Given the description of an element on the screen output the (x, y) to click on. 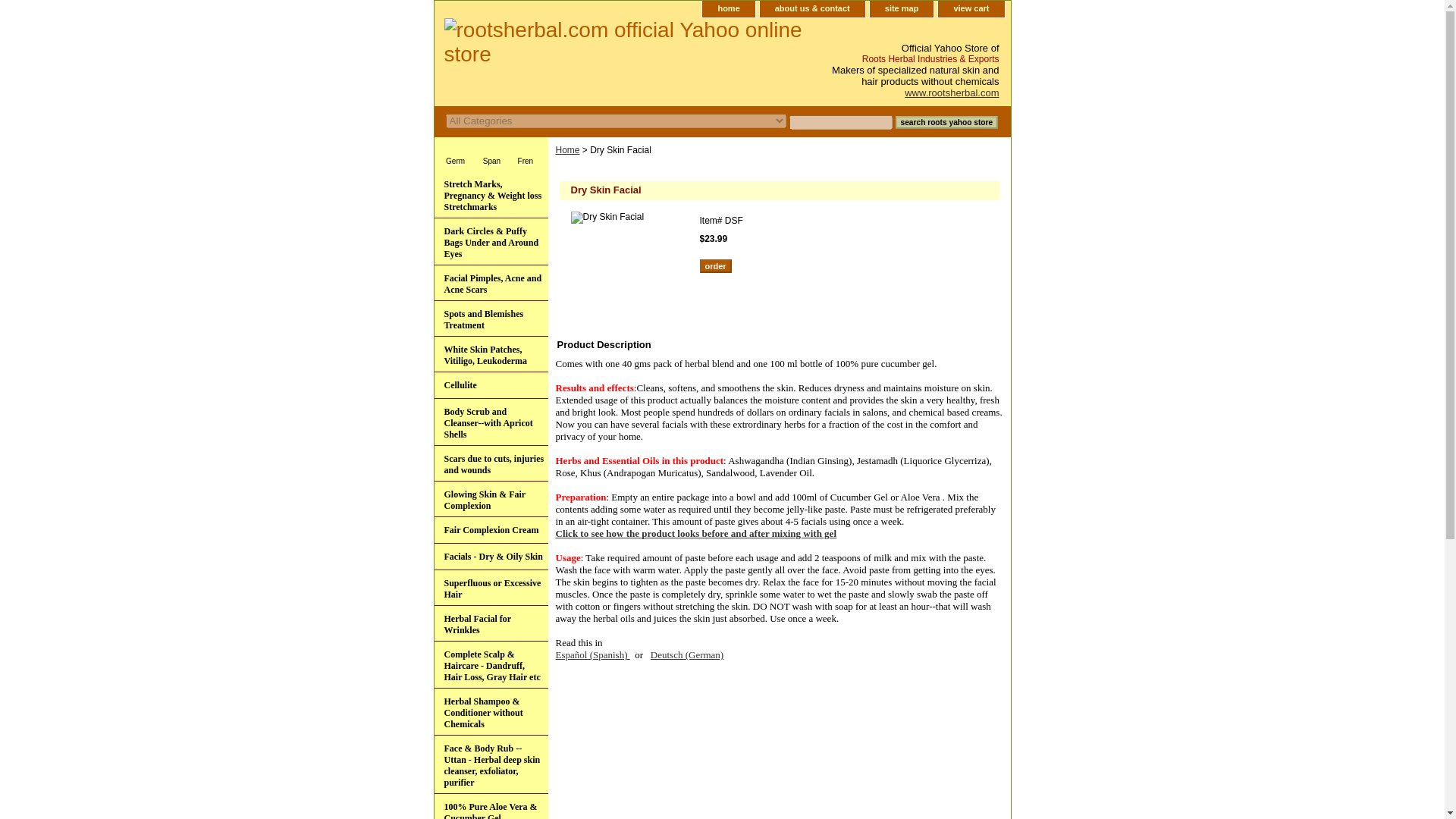
Herbal Facial for Wrinkles (490, 623)
Scars due to cuts, injuries and wounds (490, 463)
Superfluous or Excessive Hair (490, 588)
White Skin Patches, Vitiligo, Leukoderma  (490, 354)
rootsherbal.com official Yahoo online store (622, 44)
Home (566, 149)
order (714, 265)
White Skin Patches, Vitiligo, Leukoderma (490, 354)
view cart (970, 8)
Facial Pimples, Acne and Acne Scars (490, 283)
Body Scrub and Cleanser--with Apricot Shells (490, 421)
order (714, 265)
search roots yahoo store (946, 122)
Spots and Blemishes Treatment (490, 318)
order (714, 265)
